Given the description of an element on the screen output the (x, y) to click on. 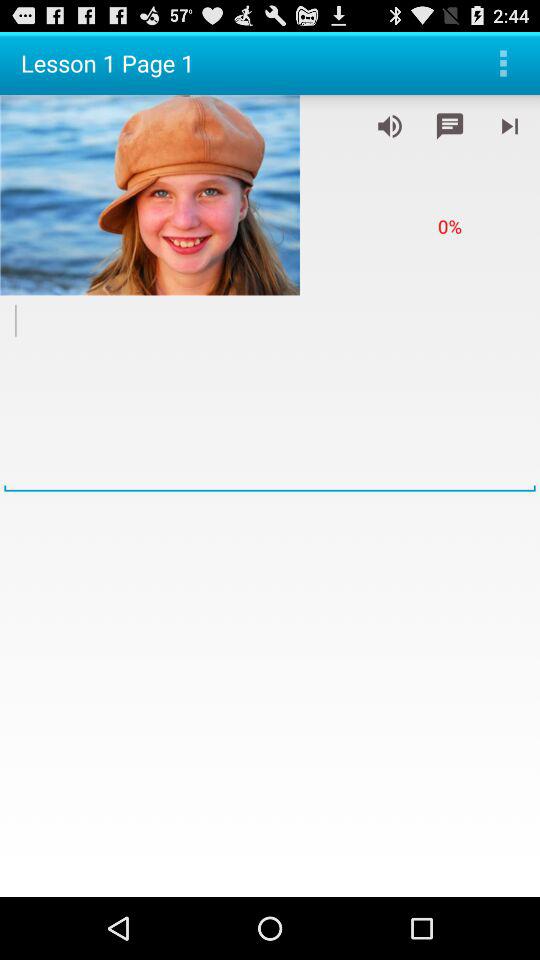
skips to the final page (510, 125)
